Given the description of an element on the screen output the (x, y) to click on. 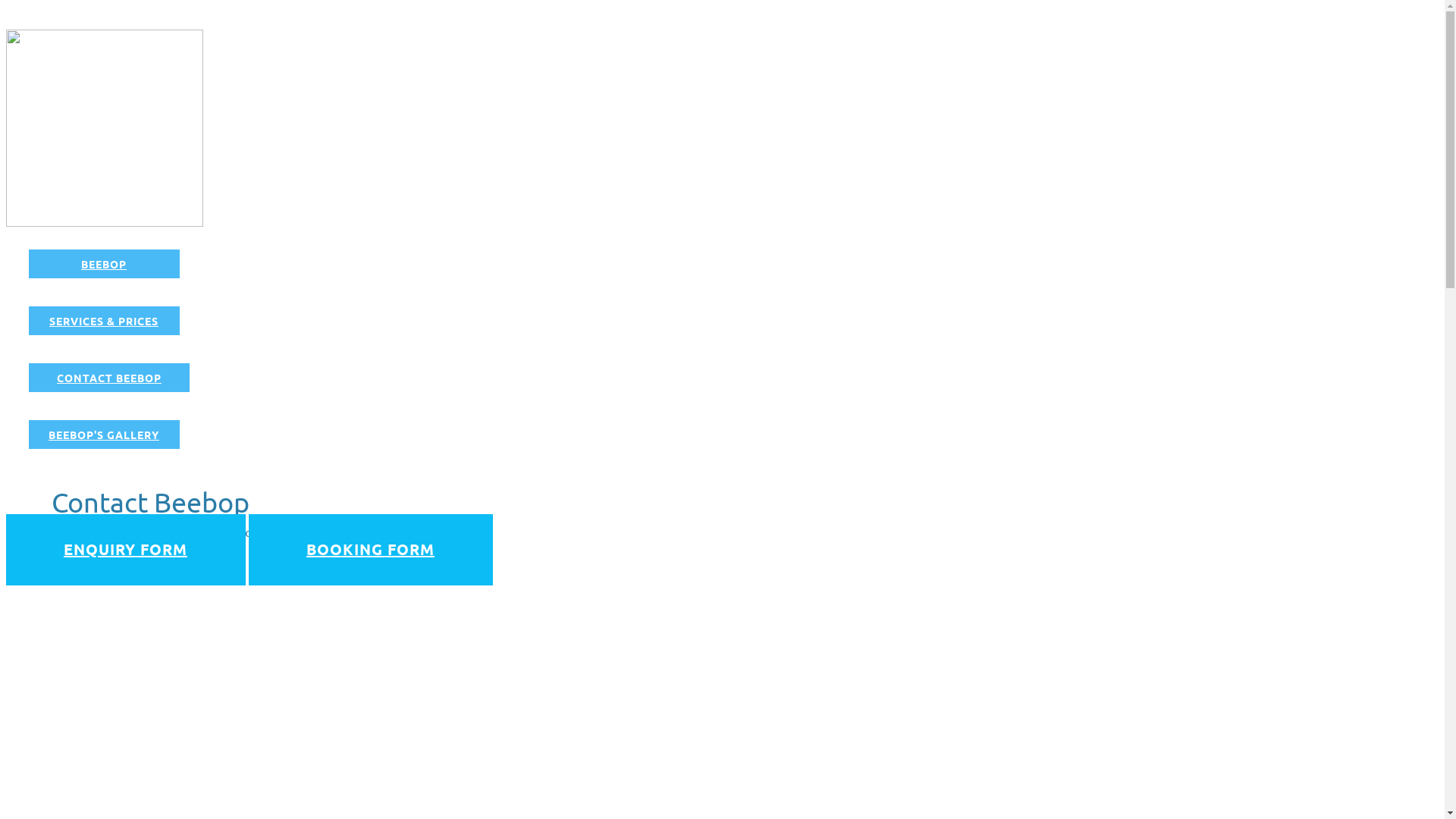
CONTACT BEEBOP Element type: text (108, 377)
SERVICES & PRICES Element type: text (103, 320)
BEEBOP Element type: text (103, 263)
BEEBOP'S GALLERY Element type: text (103, 434)
BOOKING FORM Element type: text (370, 549)
ENQUIRY FORM Element type: text (125, 549)
